Given the description of an element on the screen output the (x, y) to click on. 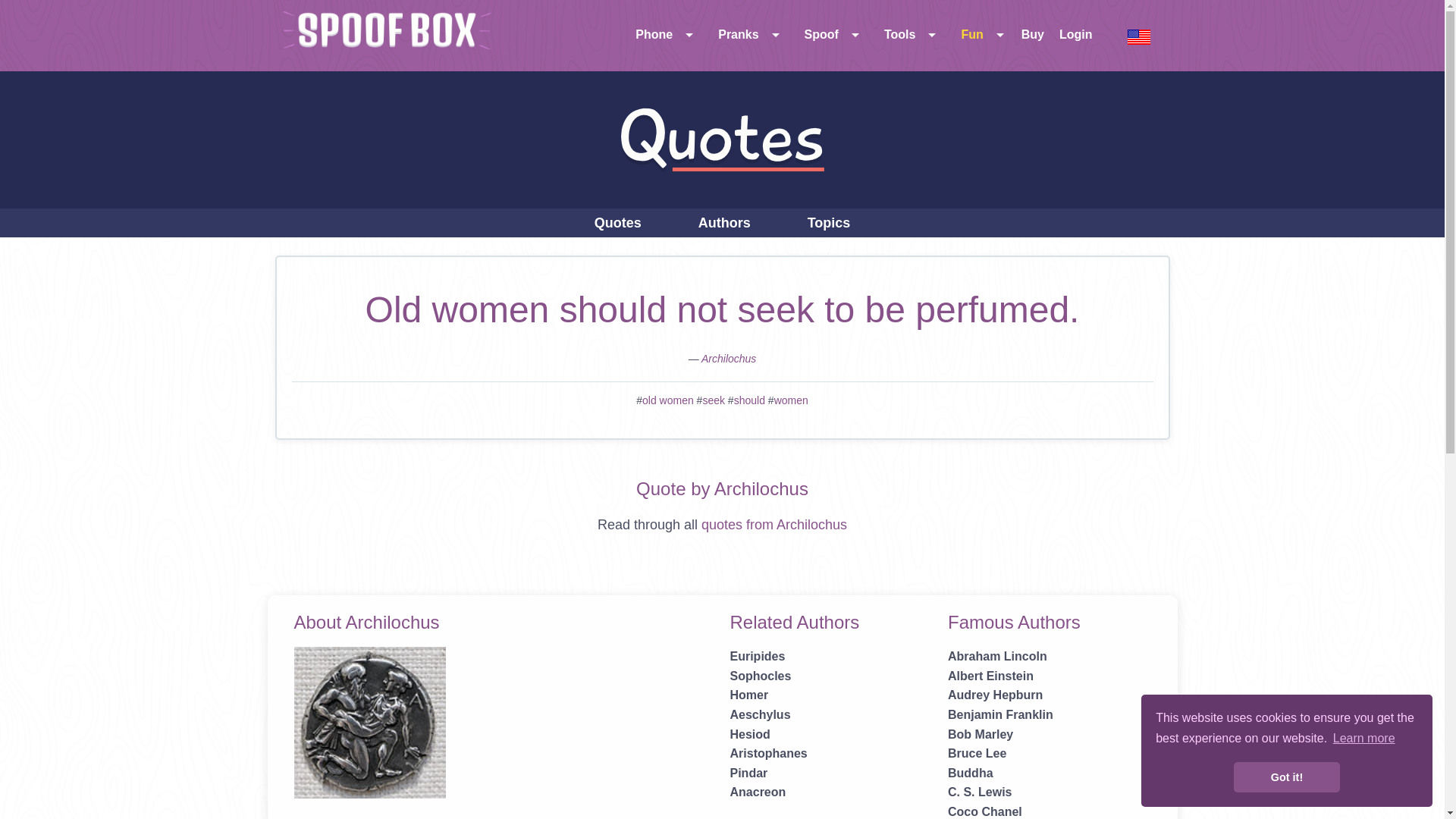
Quotes by Archilochus (728, 358)
Change language (1138, 35)
Got it! (1286, 777)
All Quotes by Archilochus (774, 524)
Learn more (1363, 738)
